Given the description of an element on the screen output the (x, y) to click on. 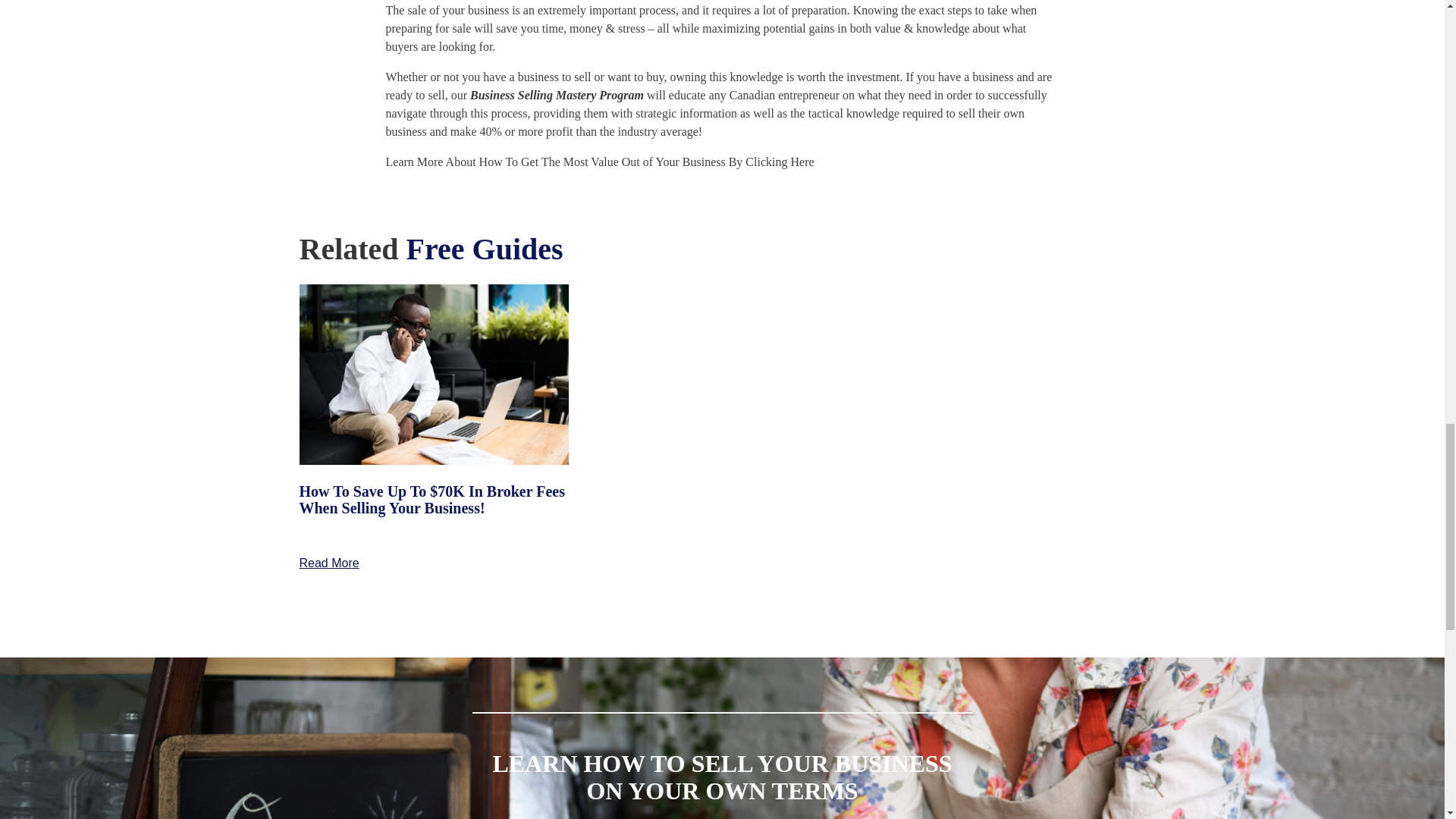
Read More (328, 562)
